Given the description of an element on the screen output the (x, y) to click on. 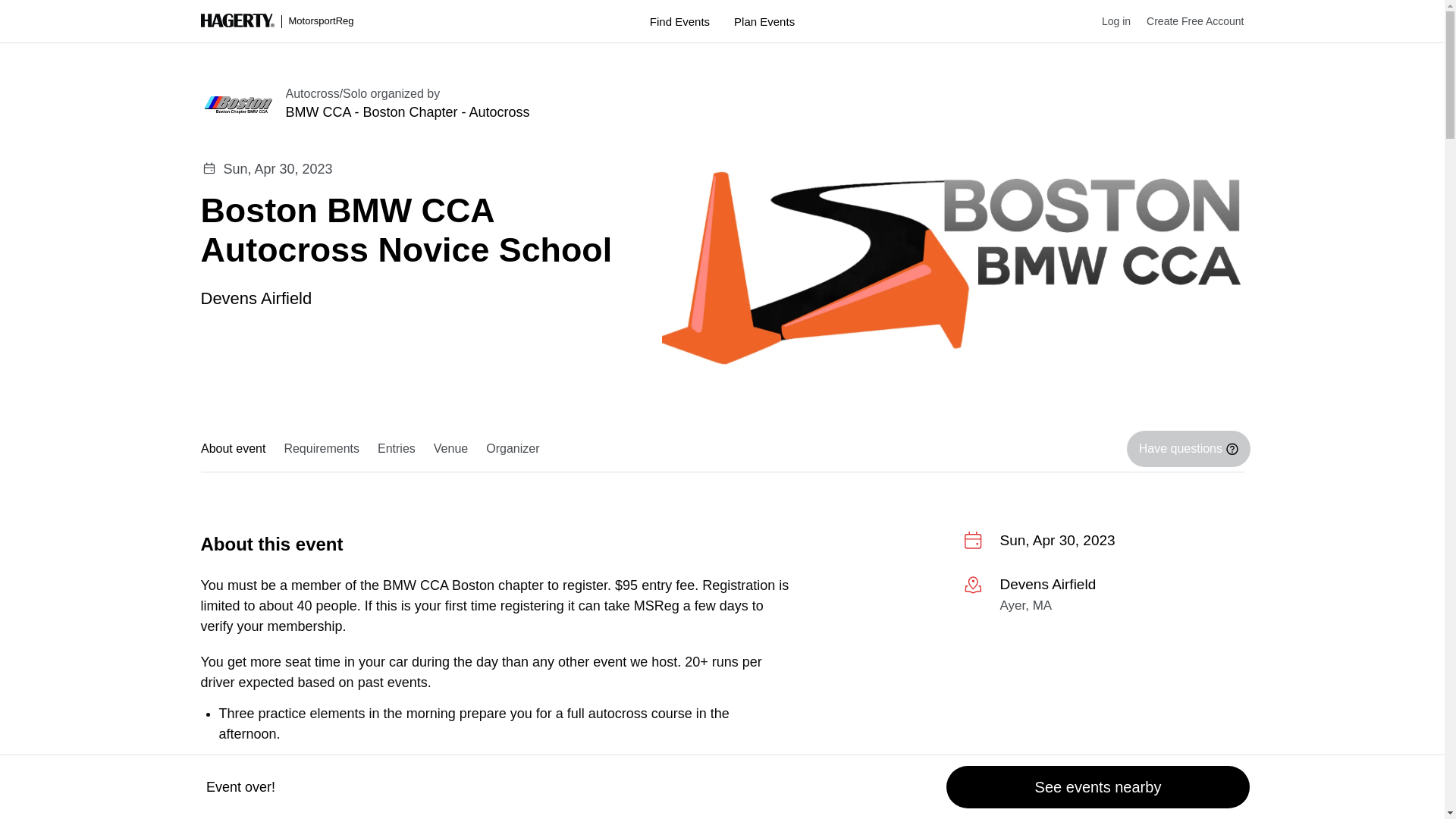
Entries (396, 449)
More info (1102, 597)
Find Events (679, 21)
Requirements (321, 449)
Log in (1108, 21)
Create Free Account (1187, 21)
Plan Events (764, 21)
Devens Airfield (255, 296)
Have questions (1187, 448)
About event (236, 449)
